Given the description of an element on the screen output the (x, y) to click on. 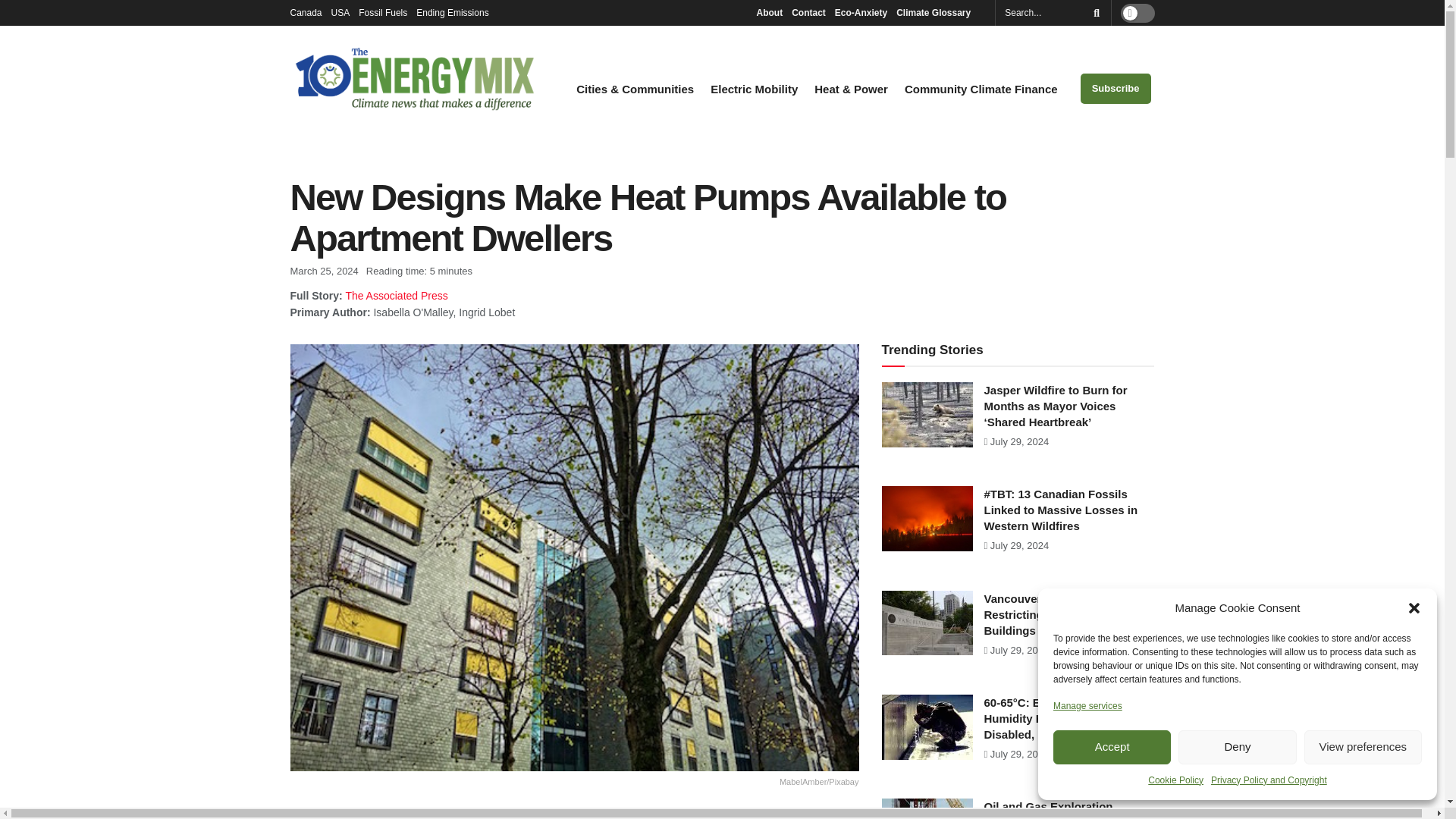
Community Climate Finance (981, 89)
Eco-Anxiety (860, 12)
Electric Mobility (753, 89)
Canada (305, 12)
Manage services (1087, 705)
About (769, 12)
Subscribe (1115, 88)
Deny (1236, 747)
Accept (1111, 747)
Privacy Policy and Copyright (1268, 780)
